Given the description of an element on the screen output the (x, y) to click on. 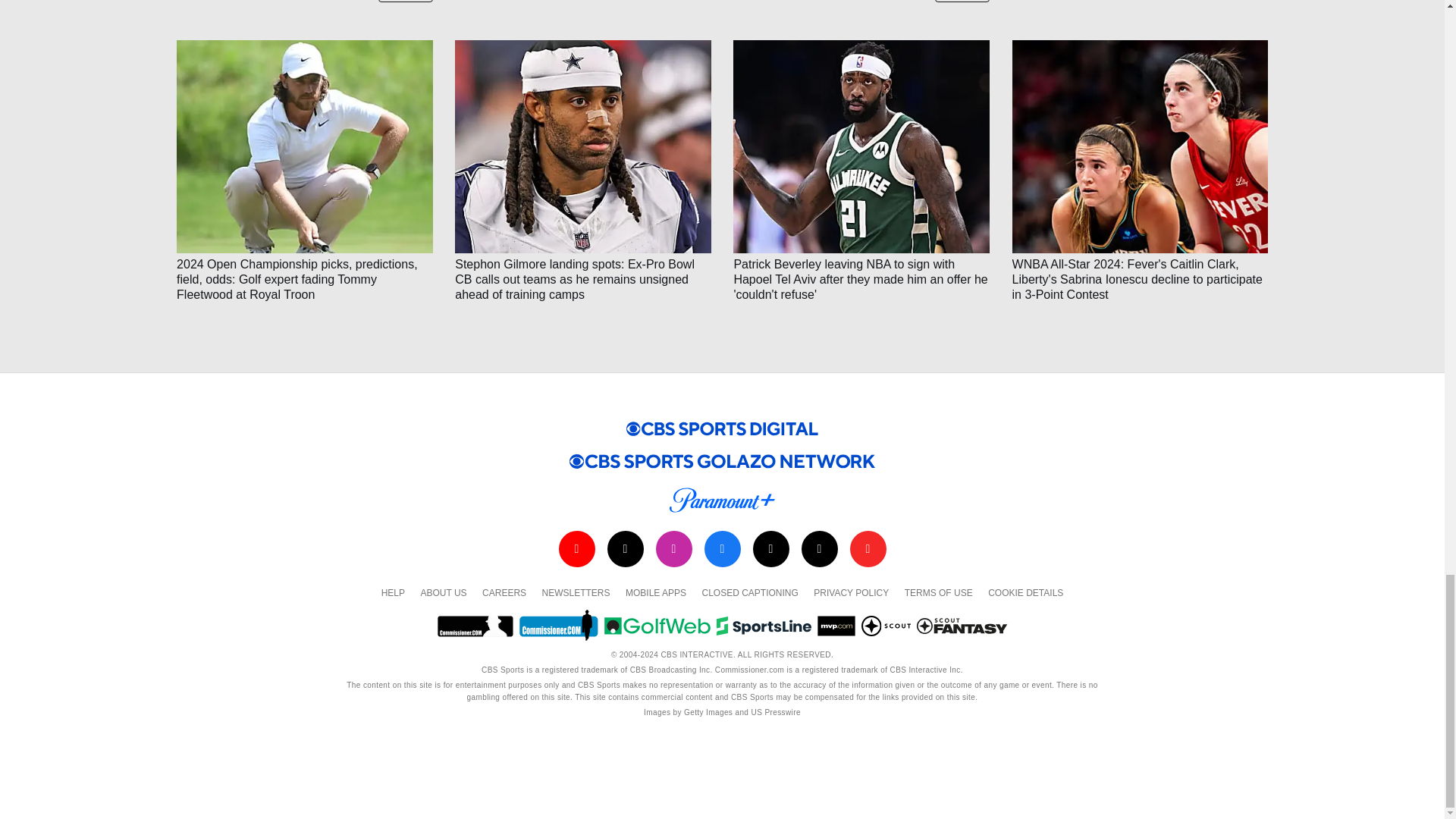
If you own a mouse, play it for 1 minute. (582, 8)
Play War Thunder now for free (1139, 8)
